Given the description of an element on the screen output the (x, y) to click on. 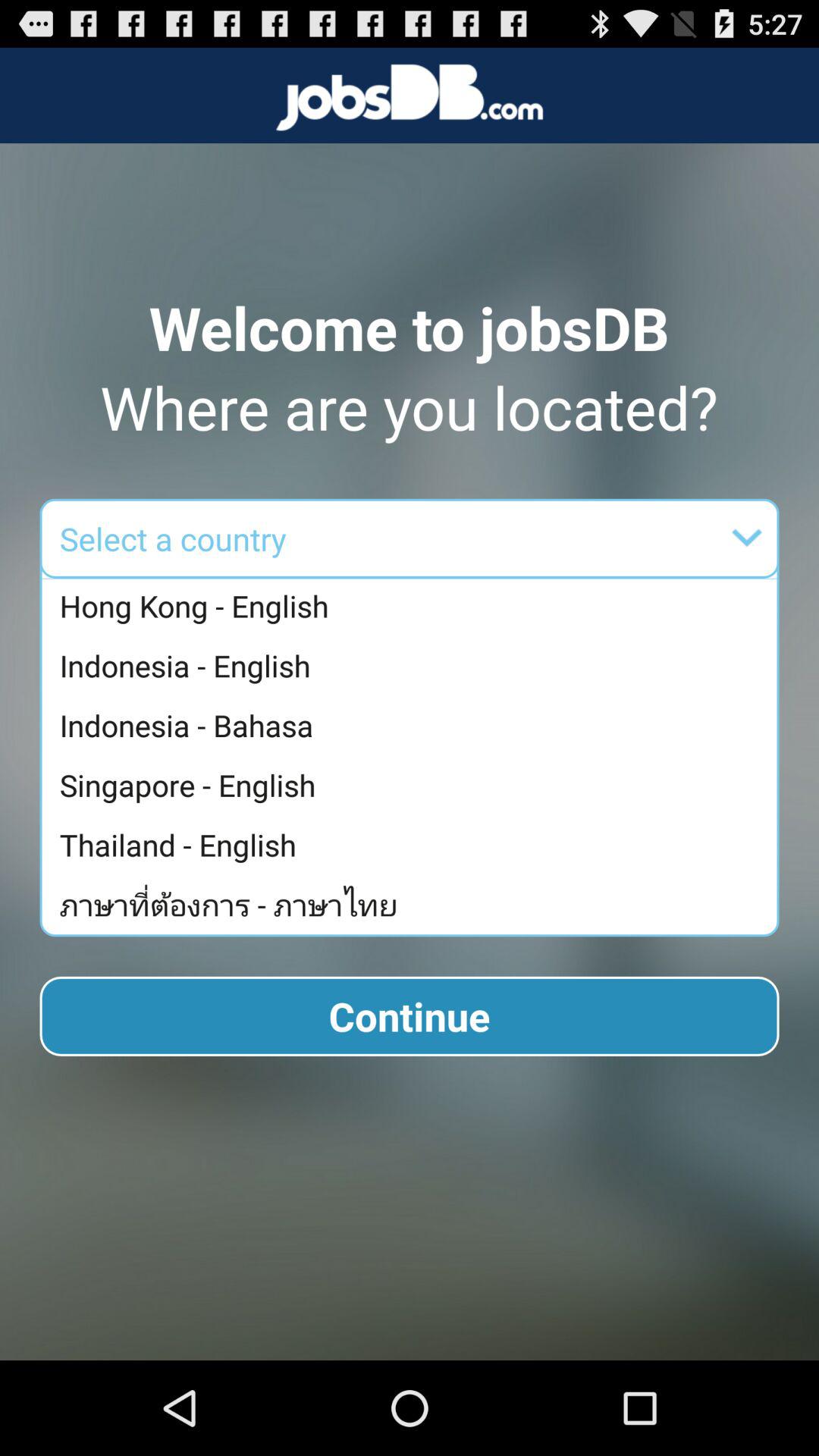
launch the indonesia - english (413, 665)
